Given the description of an element on the screen output the (x, y) to click on. 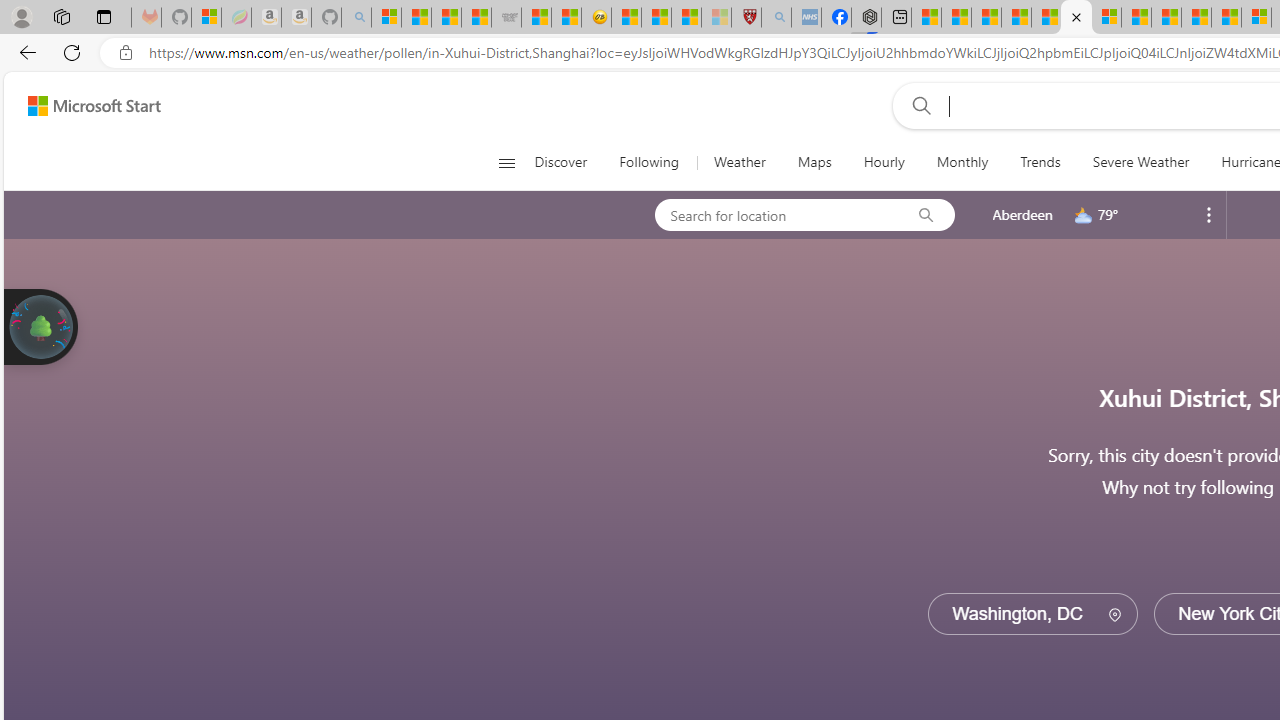
12 Popular Science Lies that Must be Corrected - Sleeping (715, 17)
Maps (814, 162)
Severe Weather (1140, 162)
